Given the description of an element on the screen output the (x, y) to click on. 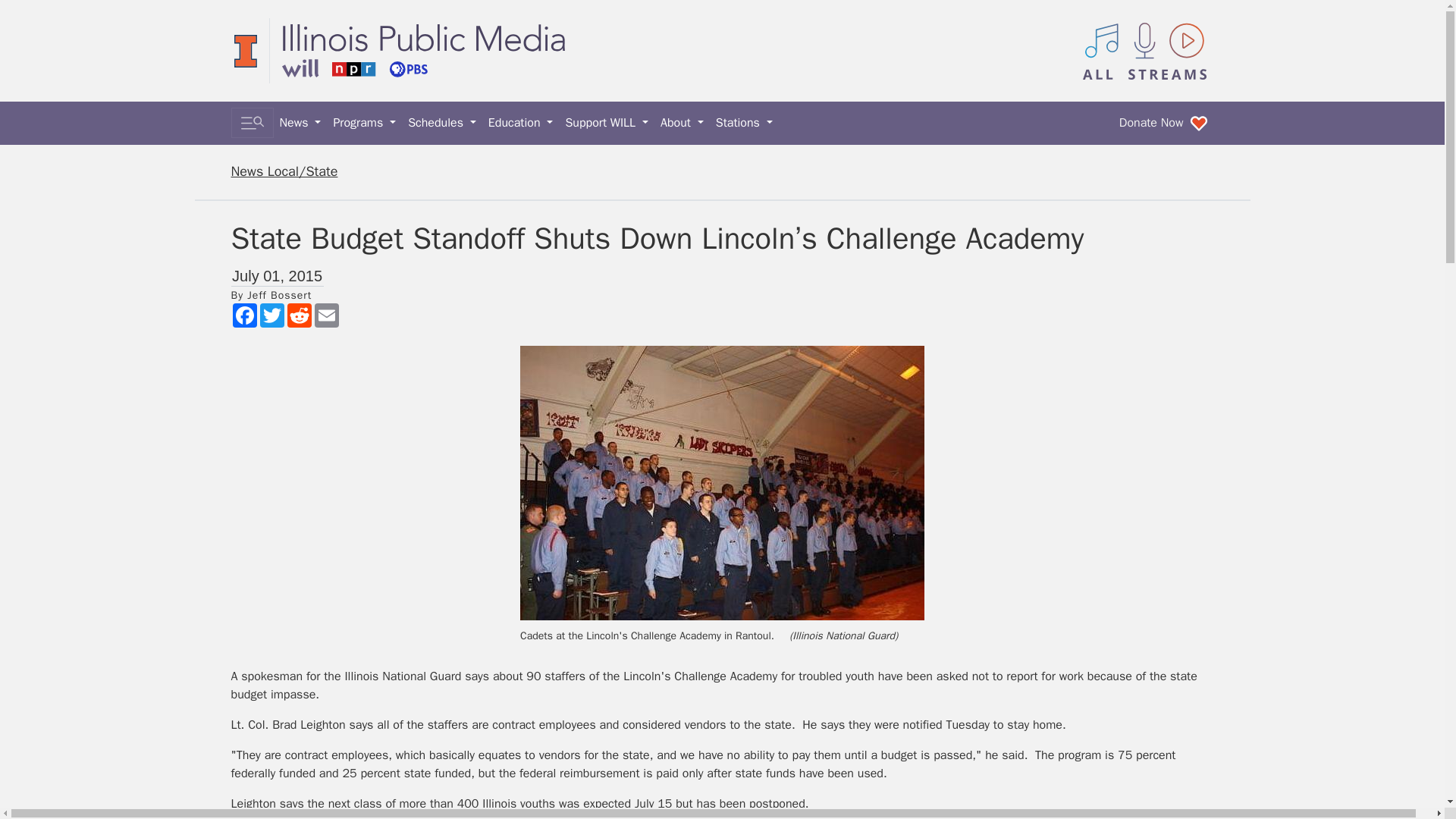
All IPM content streams (1144, 50)
News (299, 122)
Toggle search (251, 122)
Schedules (441, 122)
Programs (363, 122)
